Given the description of an element on the screen output the (x, y) to click on. 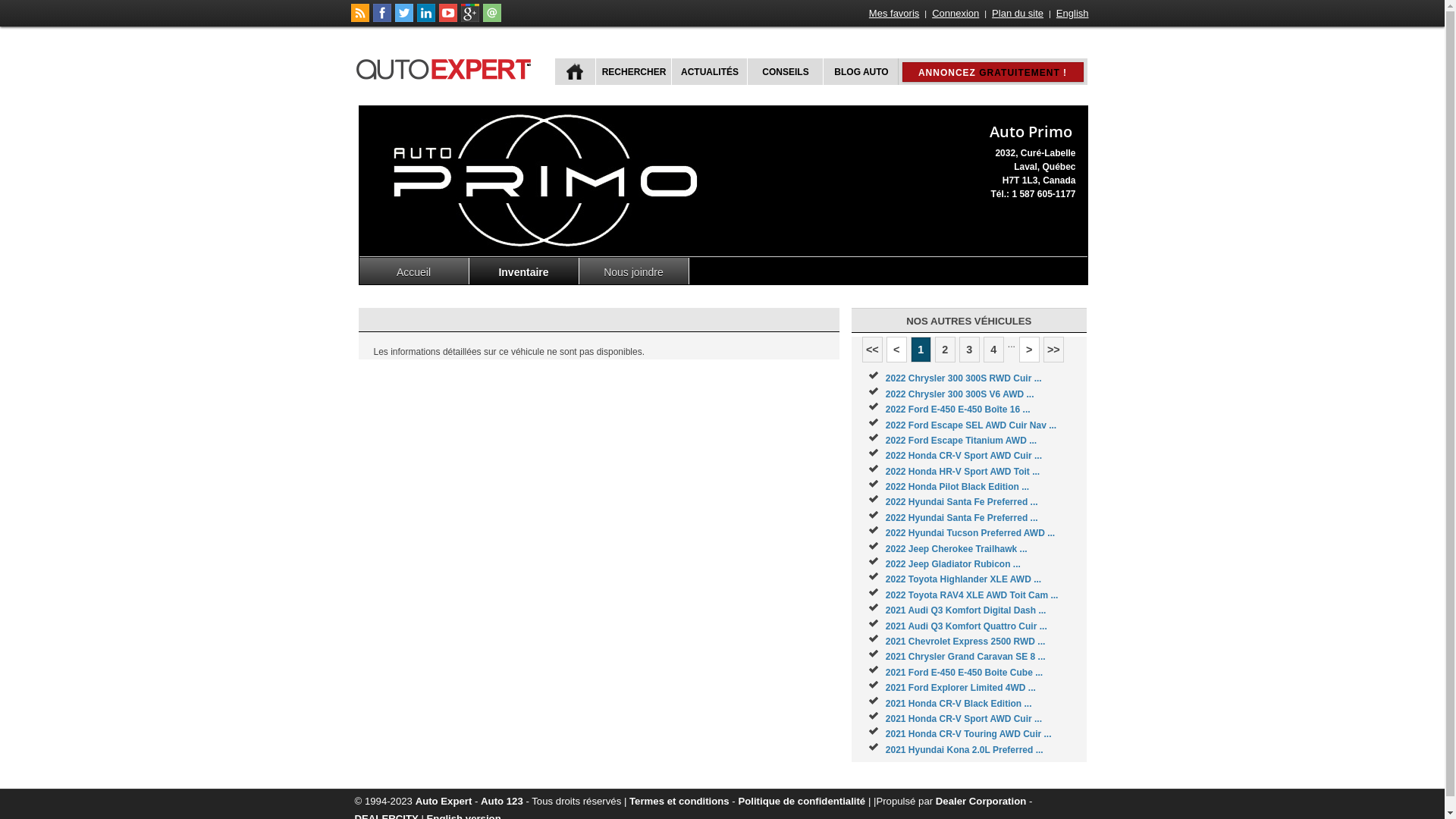
Suivez autoExpert.ca sur Google Plus Element type: hover (470, 18)
2022 Chrysler 300 300S V6 AWD ... Element type: text (959, 394)
Connexion Element type: text (955, 13)
>> Element type: text (1053, 349)
Suivez Publications Le Guide Inc. sur LinkedIn Element type: hover (426, 18)
2022 Hyundai Santa Fe Preferred ... Element type: text (961, 501)
Suivez autoExpert.ca sur Twitter Element type: hover (403, 18)
Inventaire Element type: text (523, 270)
2022 Honda CR-V Sport AWD Cuir ... Element type: text (963, 455)
ACCUEIL Element type: text (575, 71)
BLOG AUTO Element type: text (859, 71)
4 Element type: text (993, 349)
2022 Jeep Cherokee Trailhawk ... Element type: text (956, 548)
2022 Chrysler 300 300S RWD Cuir ... Element type: text (963, 378)
2021 Audi Q3 Komfort Digital Dash ... Element type: text (965, 610)
2 Element type: text (945, 349)
> Element type: text (1029, 349)
2021 Honda CR-V Touring AWD Cuir ... Element type: text (968, 733)
2021 Ford Explorer Limited 4WD ... Element type: text (960, 687)
2022 Toyota Highlander XLE AWD ... Element type: text (963, 579)
<< Element type: text (872, 349)
Joindre autoExpert.ca Element type: hover (491, 18)
Suivez autoExpert.ca sur Youtube Element type: hover (447, 18)
2022 Hyundai Tucson Preferred AWD ... Element type: text (969, 532)
2021 Hyundai Kona 2.0L Preferred ... Element type: text (964, 749)
Nous joindre Element type: text (634, 270)
2021 Audi Q3 Komfort Quattro Cuir ... Element type: text (966, 626)
2022 Jeep Gladiator Rubicon ... Element type: text (952, 563)
< Element type: text (896, 349)
3 Element type: text (969, 349)
CONSEILS Element type: text (783, 71)
2022 Honda Pilot Black Edition ... Element type: text (957, 486)
autoExpert.ca Element type: text (446, 66)
RECHERCHER Element type: text (631, 71)
Termes et conditions Element type: text (679, 800)
English Element type: text (1072, 13)
2022 Hyundai Santa Fe Preferred ... Element type: text (961, 517)
2022 Honda HR-V Sport AWD Toit ... Element type: text (962, 471)
Accueil Element type: text (414, 270)
Dealer Corporation Element type: text (980, 800)
2022 Ford Escape SEL AWD Cuir Nav ... Element type: text (970, 425)
1 Element type: text (920, 349)
2021 Chrysler Grand Caravan SE 8 ... Element type: text (965, 656)
2022 Toyota RAV4 XLE AWD Toit Cam ... Element type: text (971, 594)
2022 Ford Escape Titanium AWD ... Element type: text (960, 440)
Plan du site Element type: text (1017, 13)
2021 Honda CR-V Sport AWD Cuir ... Element type: text (963, 718)
2021 Honda CR-V Black Edition ... Element type: text (958, 703)
ANNONCEZ GRATUITEMENT ! Element type: text (992, 71)
Auto Expert Element type: text (443, 800)
Suivez autoExpert.ca sur Facebook Element type: hover (382, 18)
2021 Ford E-450 E-450 Boite Cube ... Element type: text (963, 672)
Mes favoris Element type: text (893, 13)
Auto 123 Element type: text (501, 800)
2021 Chevrolet Express 2500 RWD ... Element type: text (965, 641)
